Given the description of an element on the screen output the (x, y) to click on. 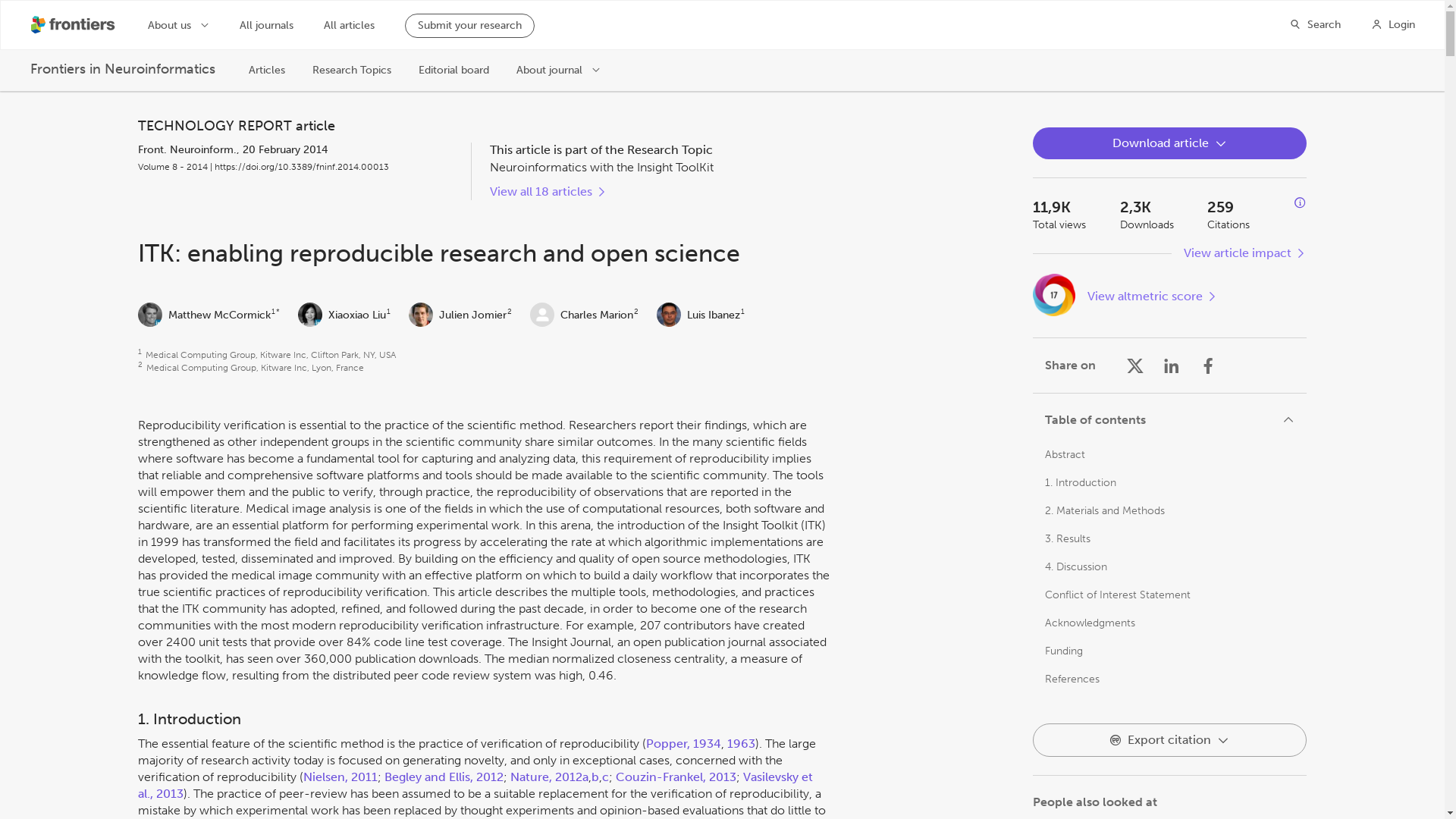
All articles (348, 25)
Login (1393, 24)
Share on X (1134, 365)
Share on Linkedin (1170, 365)
Search (1314, 24)
Submit your research (469, 25)
About us (178, 24)
Share on Facebook (1207, 365)
All journals (267, 25)
